Given the description of an element on the screen output the (x, y) to click on. 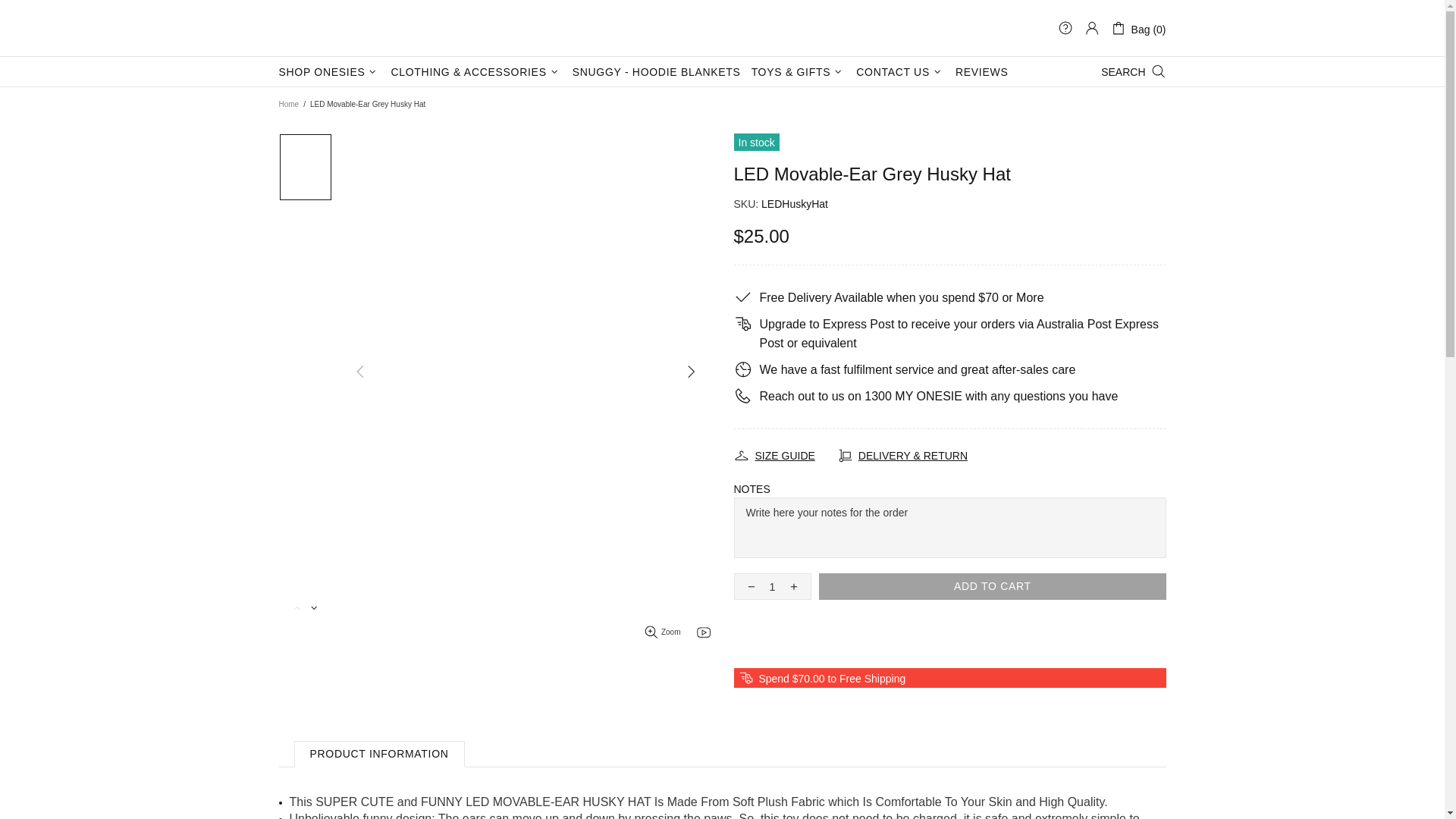
My Onesie (336, 27)
REVIEWS (981, 71)
SHOP ONESIES (329, 71)
SEARCH (1133, 71)
Home (288, 104)
ADD TO CART (992, 586)
SNUGGY - HOODIE BLANKETS (656, 71)
1 (771, 586)
CONTACT US (900, 71)
